Given the description of an element on the screen output the (x, y) to click on. 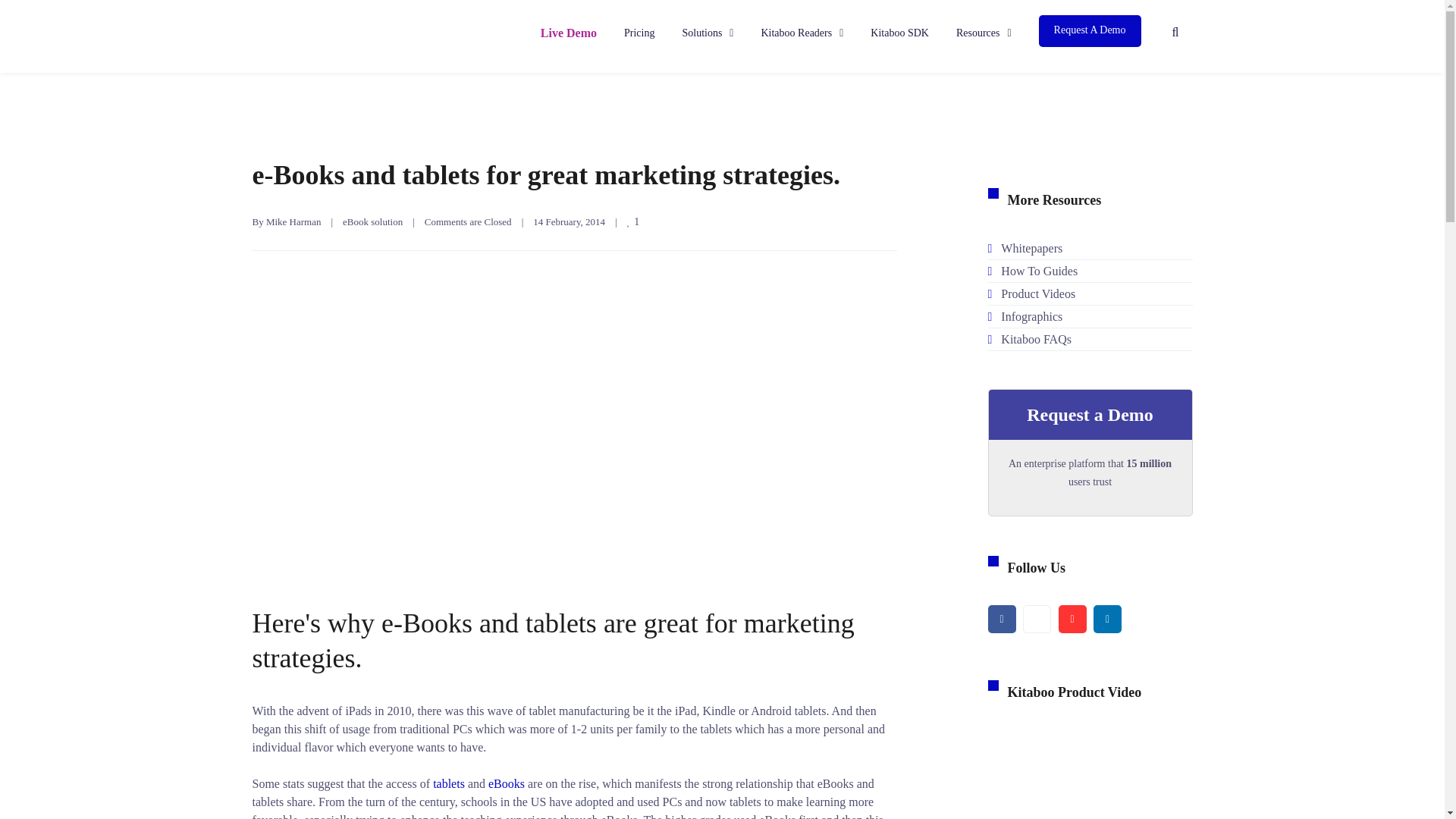
eBooks (505, 783)
Request A Demo (1090, 30)
1  (634, 221)
Kitaboo Readers (801, 36)
Like this (634, 221)
tablets (448, 783)
eBook solution (372, 221)
Kitaboo (310, 34)
e-Books and tablets for great marketing strategies. (545, 174)
